Given the description of an element on the screen output the (x, y) to click on. 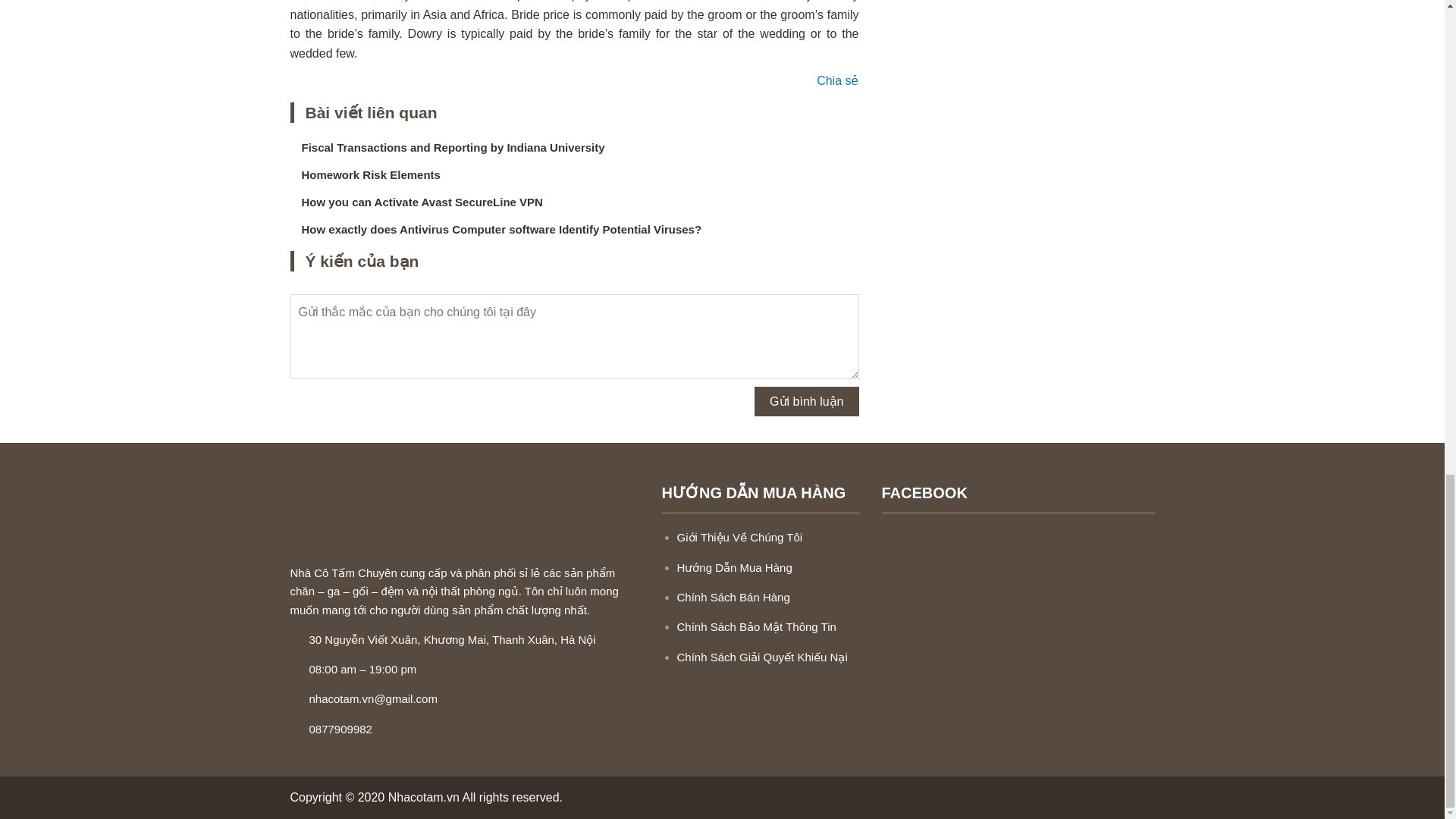
Homework Risk Elements (371, 174)
Fiscal Transactions and Reporting by Indiana University (453, 146)
Homework Risk Elements (371, 174)
Fiscal Transactions and Reporting by Indiana University (453, 146)
How you can Activate Avast SecureLine VPN (422, 201)
How you can Activate Avast SecureLine VPN (422, 201)
